Given the description of an element on the screen output the (x, y) to click on. 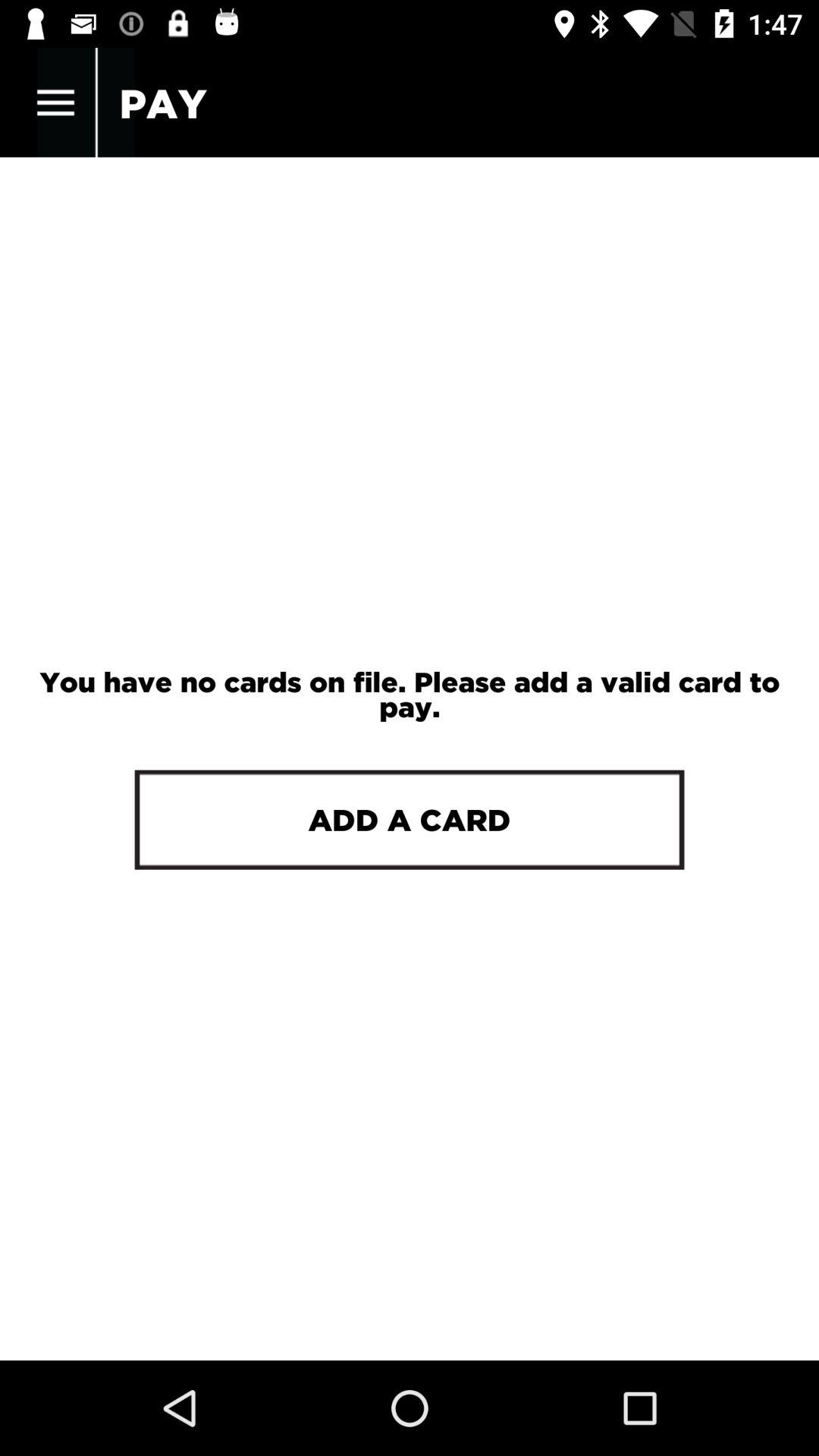
turn off the item above you have no icon (55, 103)
